Given the description of an element on the screen output the (x, y) to click on. 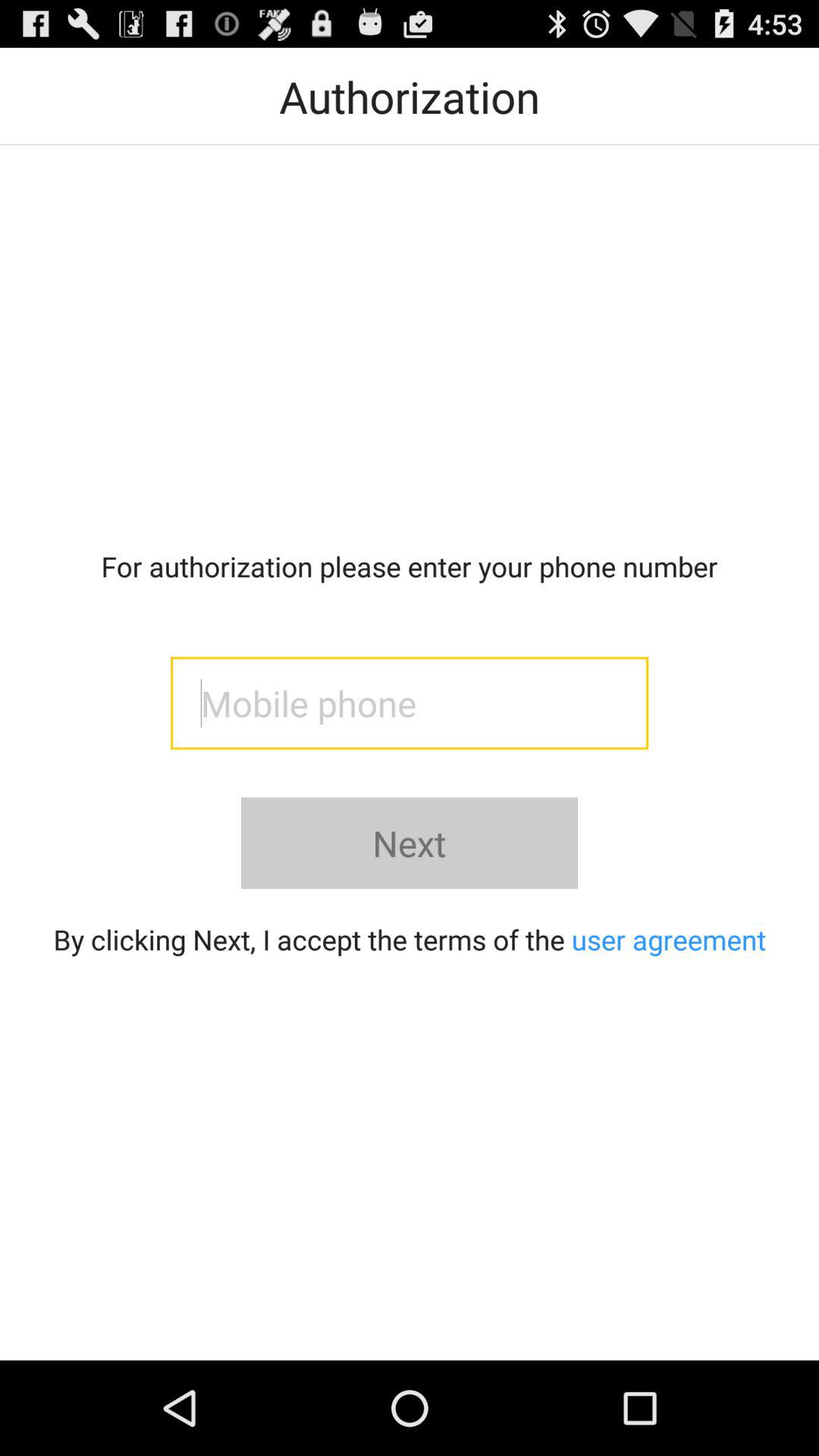
enter your phone number (409, 702)
